Given the description of an element on the screen output the (x, y) to click on. 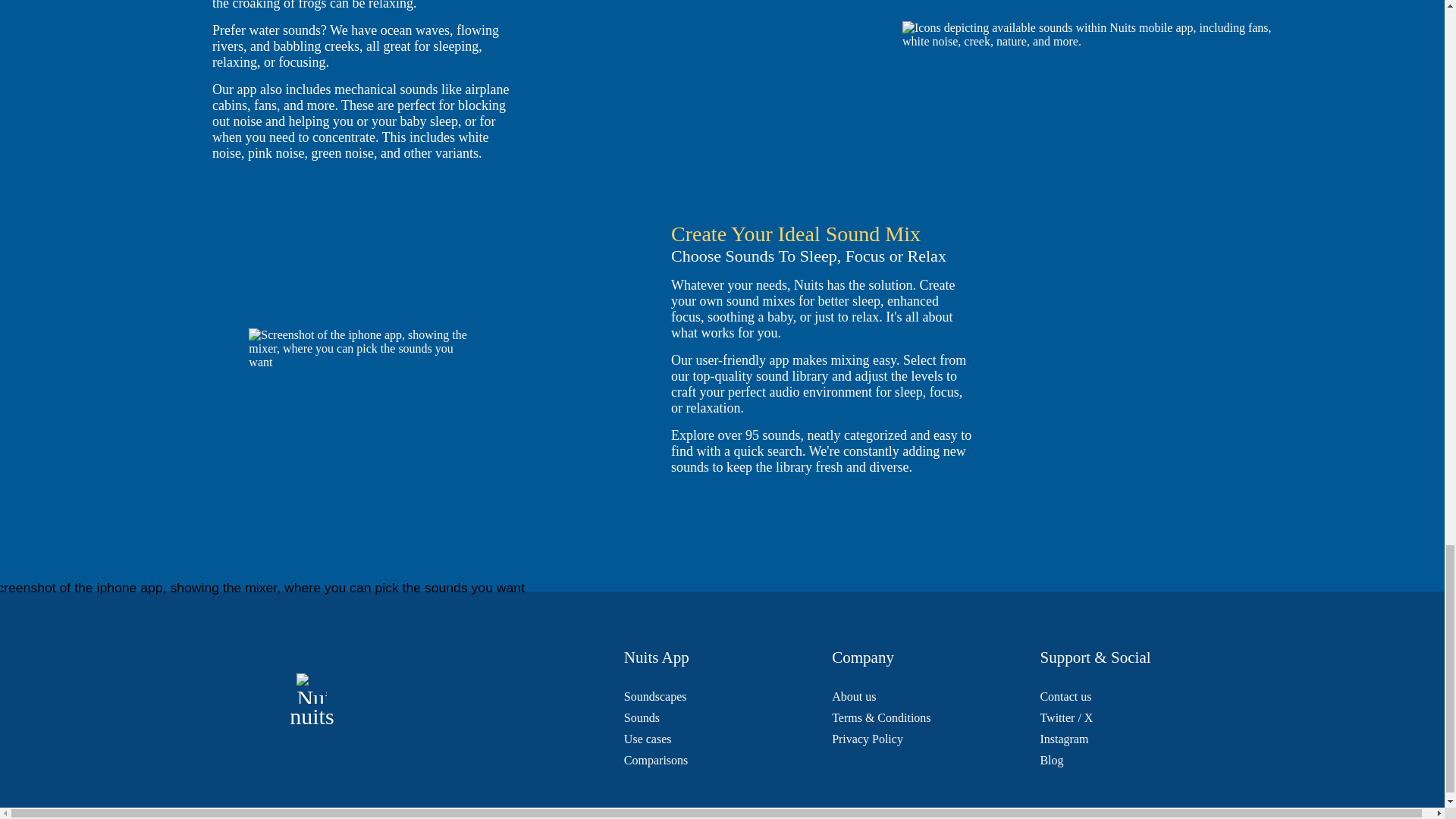
Use cases (647, 739)
About us (853, 696)
Sounds (641, 717)
Blog (1050, 760)
Comparisons (655, 760)
Instagram (1063, 739)
Soundscapes (655, 696)
Privacy Policy (866, 739)
